Given the description of an element on the screen output the (x, y) to click on. 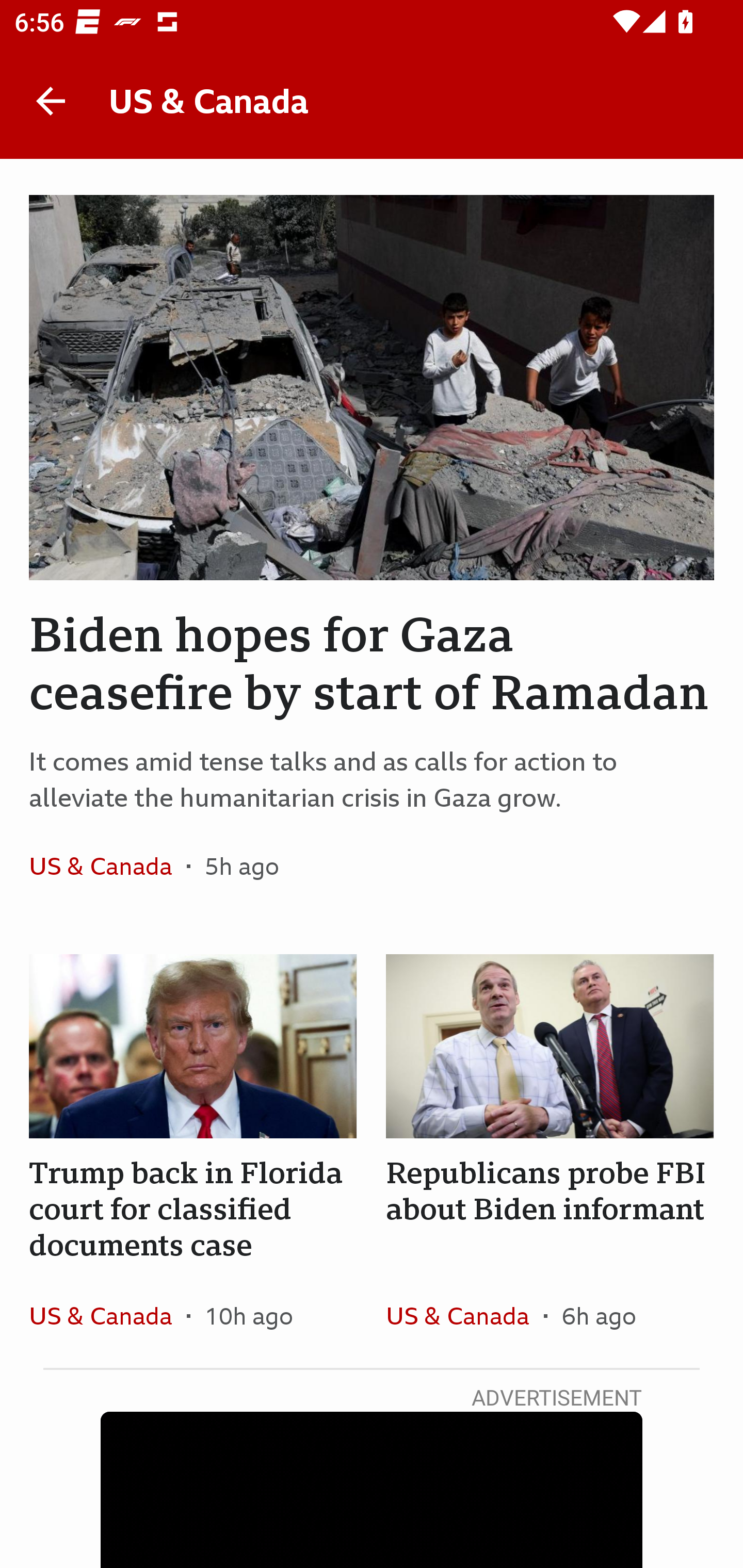
Back (50, 101)
US & Canada In the section US & Canada (107, 865)
US & Canada In the section US & Canada (107, 1315)
US & Canada In the section US & Canada (464, 1315)
